Given the description of an element on the screen output the (x, y) to click on. 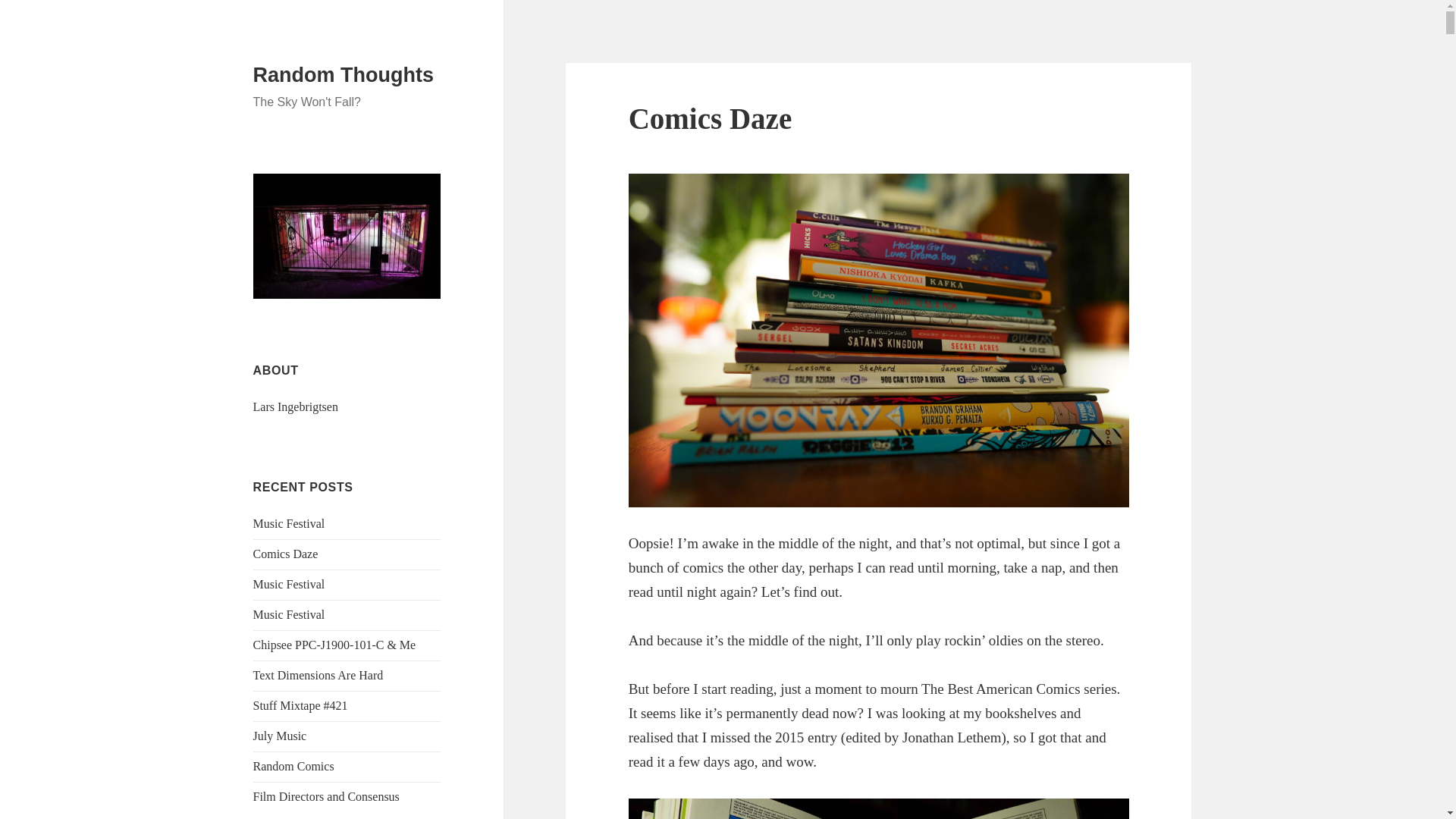
Music Festival (288, 614)
Comics Daze (285, 553)
July Music (280, 735)
Lars Ingebrigtsen (295, 406)
Music Festival (288, 584)
Film Directors and Consensus (325, 796)
Text Dimensions Are Hard (318, 675)
Music Festival (288, 522)
Random Thoughts (343, 74)
Random Comics (293, 766)
